Given the description of an element on the screen output the (x, y) to click on. 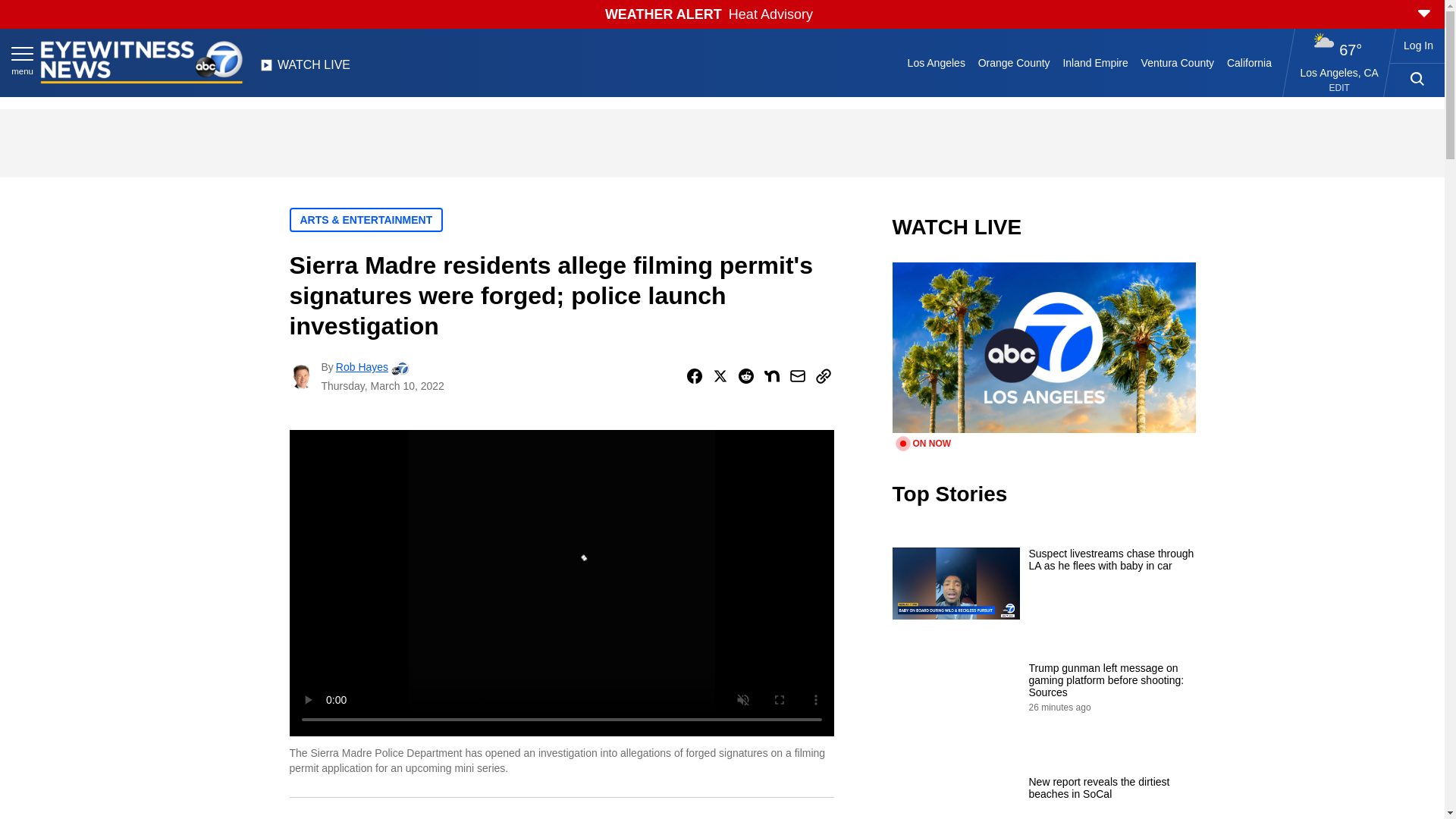
Los Angeles (936, 62)
California (1249, 62)
Los Angeles, CA (1339, 72)
Orange County (1014, 62)
Ventura County (1177, 62)
EDIT (1339, 87)
Inland Empire (1095, 62)
WATCH LIVE (305, 69)
